Given the description of an element on the screen output the (x, y) to click on. 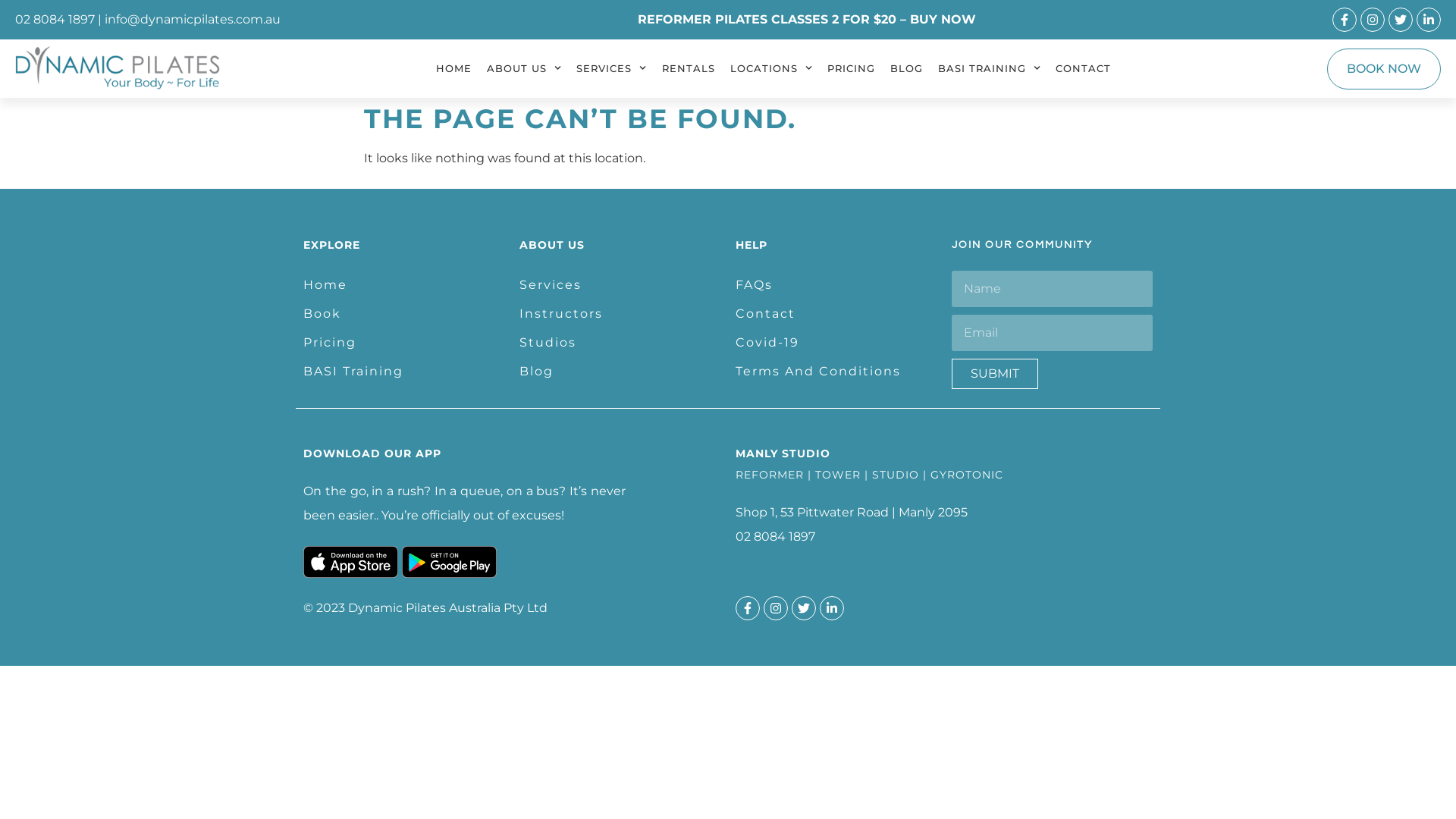
Terms And Conditions Element type: text (835, 371)
Services Element type: text (619, 284)
02 8084 1897 Element type: text (54, 19)
SERVICES Element type: text (611, 68)
BASI Training Element type: text (403, 371)
BLOG Element type: text (906, 68)
Blog Element type: text (619, 371)
Studios Element type: text (619, 342)
CONTACT Element type: text (1082, 68)
Home Element type: text (403, 284)
Instructors Element type: text (619, 313)
Covid-19 Element type: text (835, 342)
HOME Element type: text (453, 68)
FAQs Element type: text (835, 284)
RENTALS Element type: text (687, 68)
LOCATIONS Element type: text (770, 68)
BASI TRAINING Element type: text (989, 68)
02 8084 1897 Element type: text (775, 536)
BOOK NOW Element type: text (1383, 68)
ABOUT US Element type: text (523, 68)
SUBMIT Element type: text (994, 373)
PRICING Element type: text (851, 68)
info@dynamicpilates.com.au Element type: text (192, 19)
Pricing Element type: text (403, 342)
Contact Element type: text (835, 313)
Book Element type: text (403, 313)
